Given the description of an element on the screen output the (x, y) to click on. 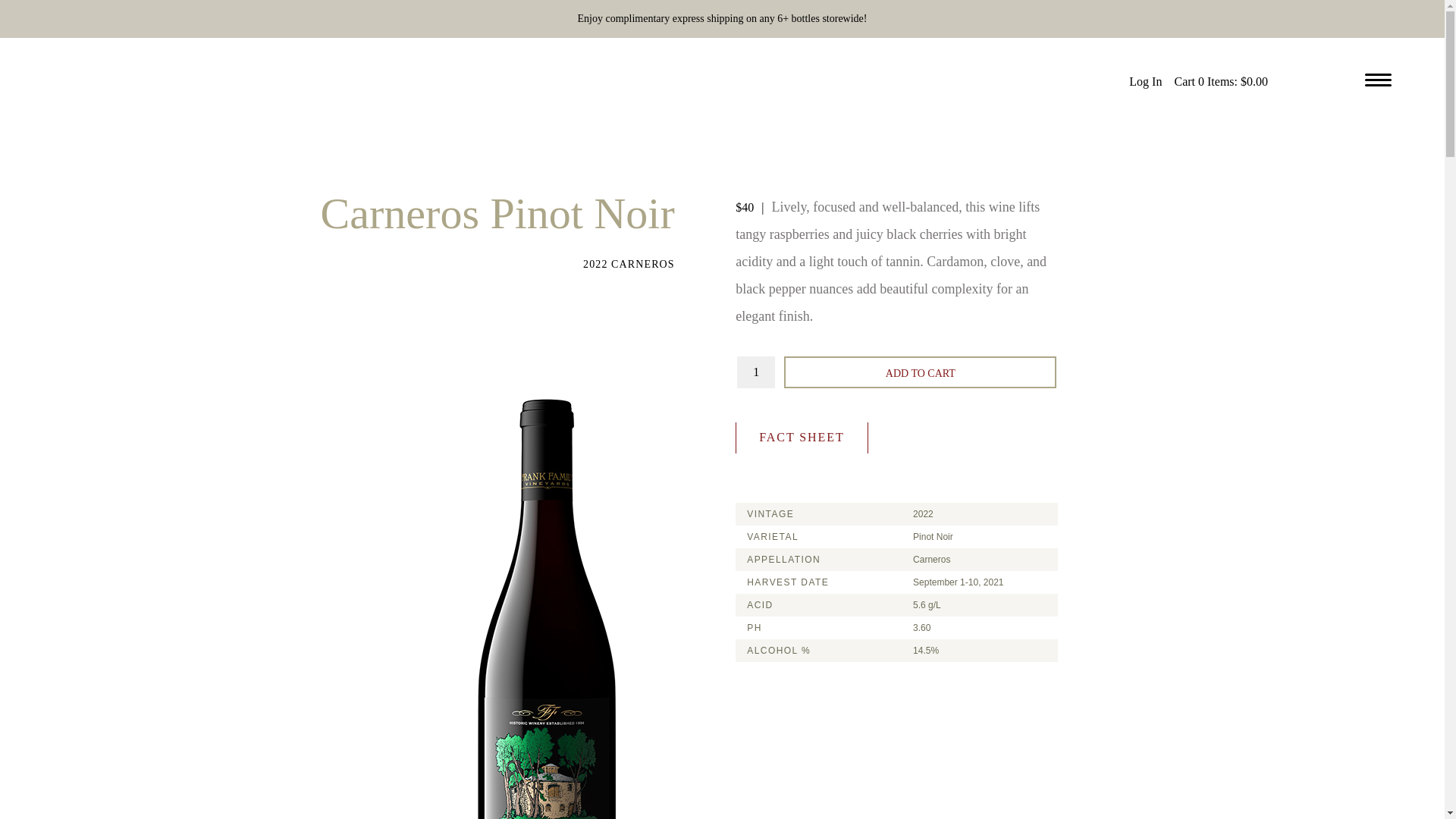
FACT SHEET (801, 437)
1 (755, 372)
ADD TO CART (920, 372)
Log In (1145, 81)
Skip to content (61, 22)
